Given the description of an element on the screen output the (x, y) to click on. 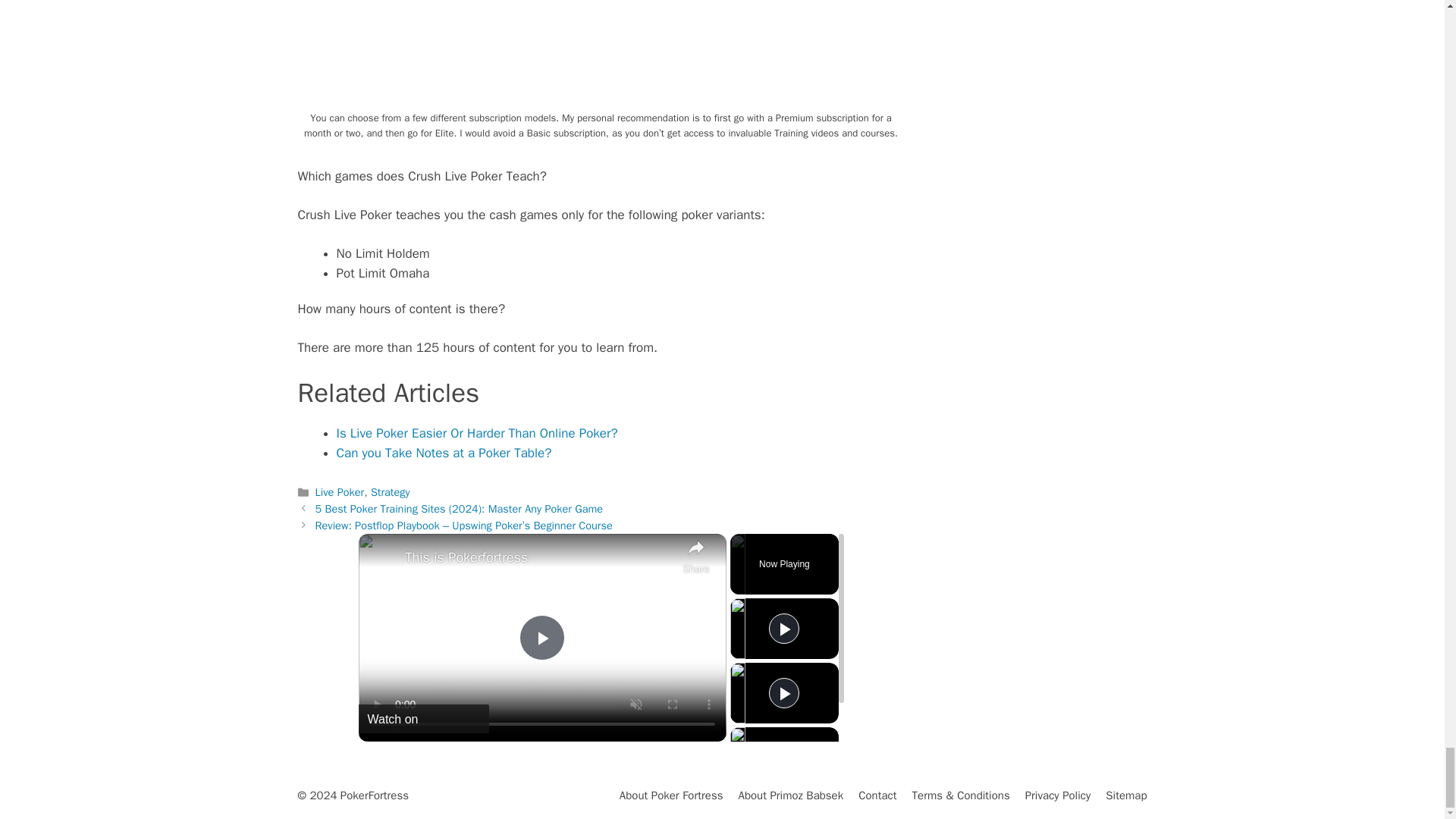
Play (783, 693)
Play (783, 628)
Now Playing (783, 563)
